Given the description of an element on the screen output the (x, y) to click on. 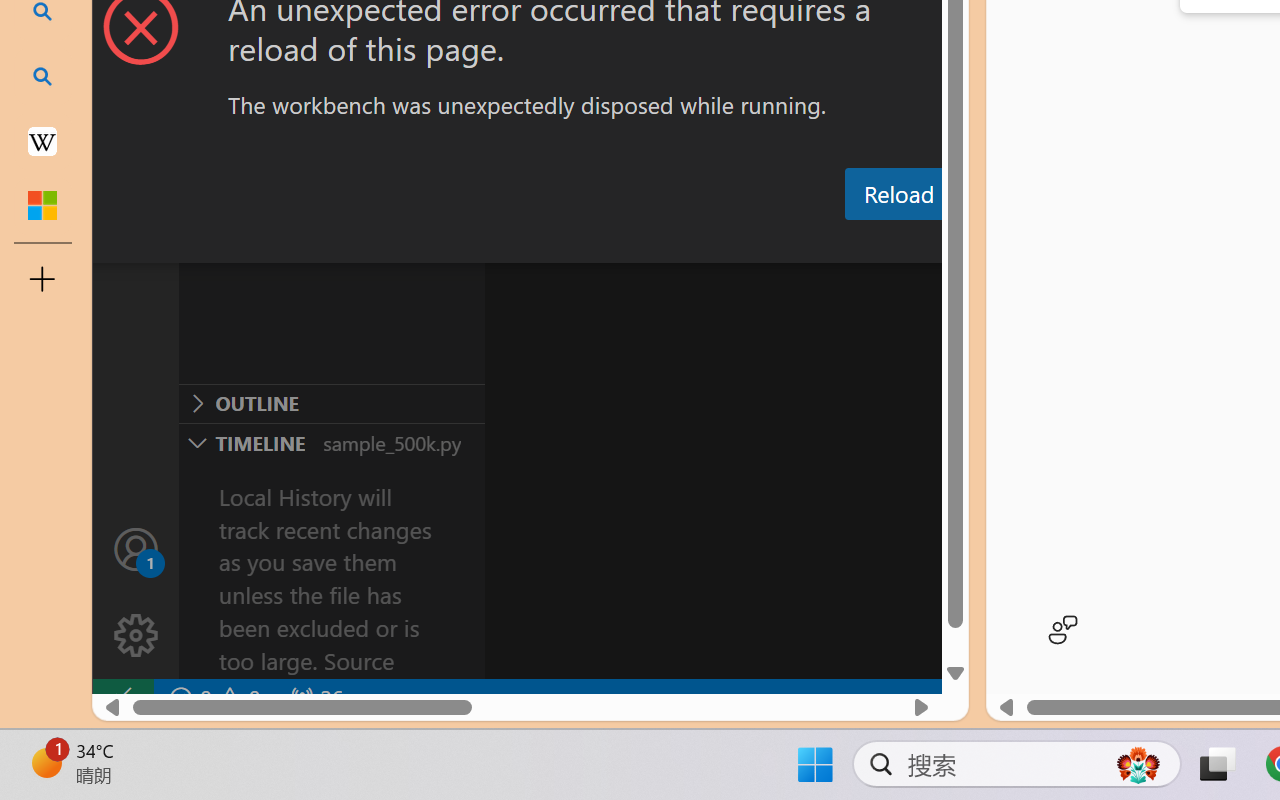
Accounts - Sign in requested (135, 548)
No Problems (212, 698)
Reload (898, 193)
Output (Ctrl+Shift+U) (696, 243)
Earth - Wikipedia (42, 140)
Problems (Ctrl+Shift+M) (567, 243)
